Given the description of an element on the screen output the (x, y) to click on. 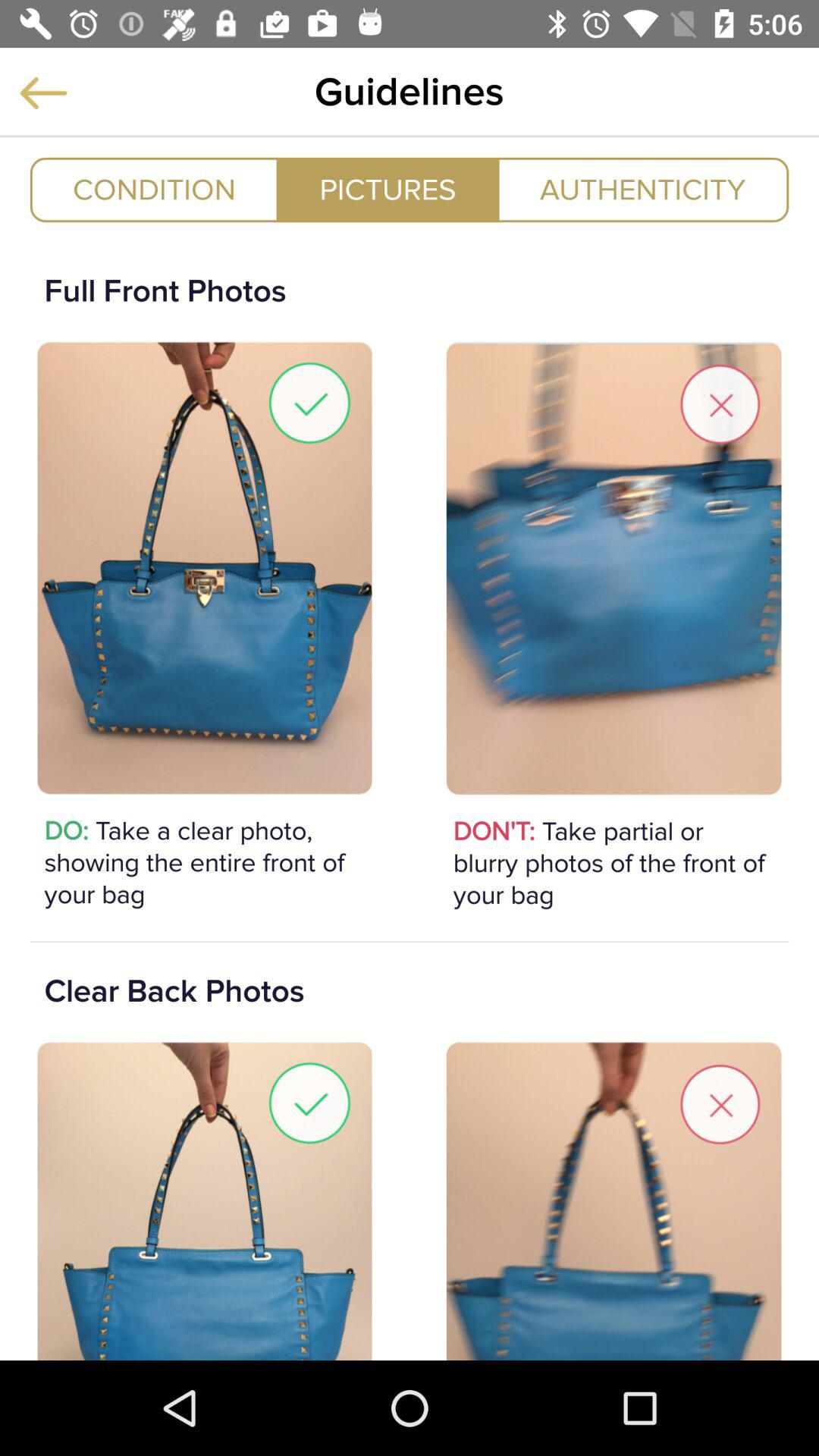
click the icon next to the condition (387, 189)
